Given the description of an element on the screen output the (x, y) to click on. 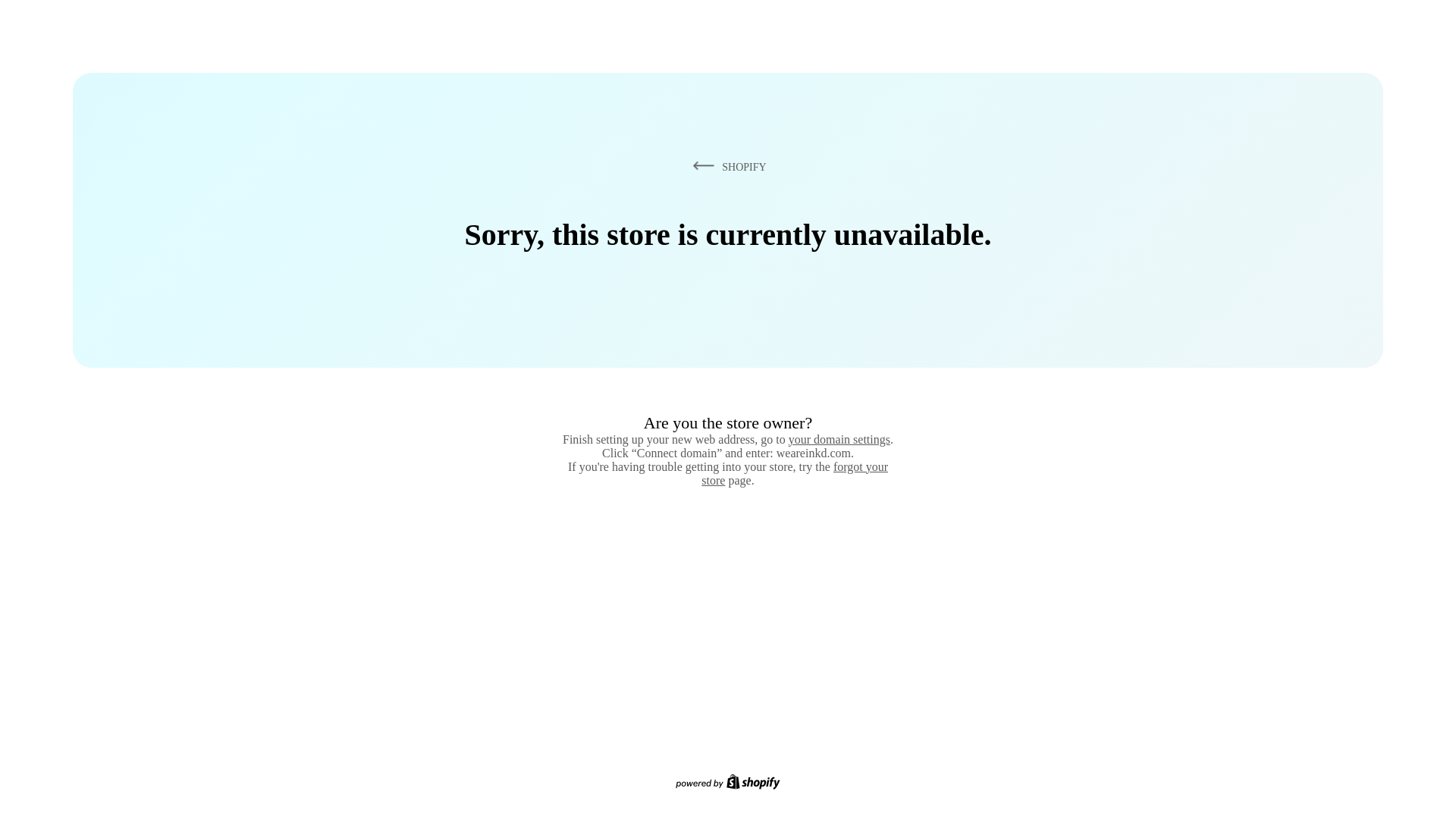
your domain settings (839, 439)
SHOPIFY (726, 166)
forgot your store (794, 473)
